Given the description of an element on the screen output the (x, y) to click on. 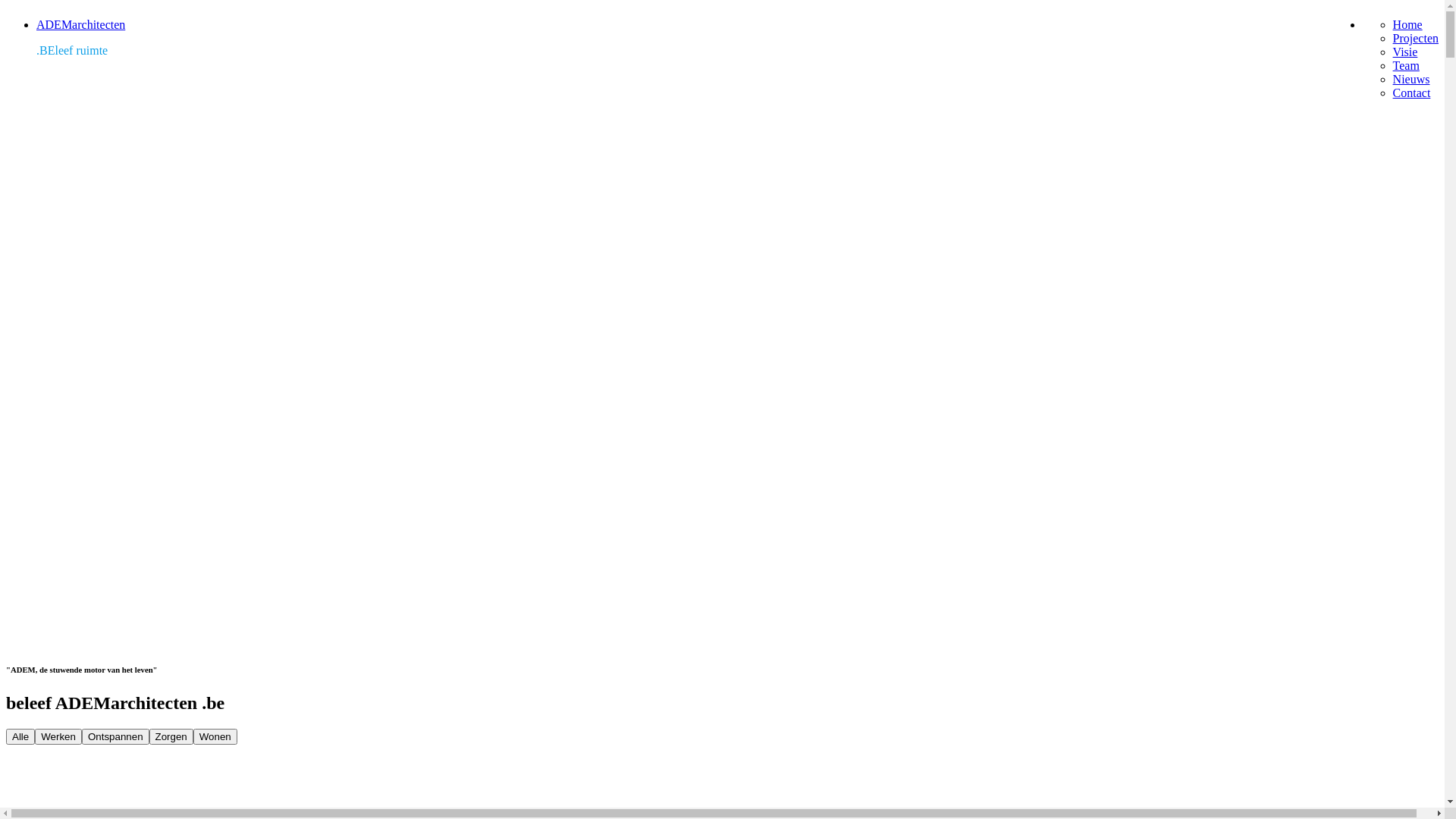
Projecten Element type: text (1415, 37)
ADEMarchitecten Element type: text (80, 24)
Ontspannen Element type: text (115, 736)
Nieuws Element type: text (1411, 78)
Zorgen Element type: text (171, 736)
Wonen Element type: text (215, 736)
Alle Element type: text (20, 736)
Werken Element type: text (57, 736)
Team Element type: text (1406, 65)
Visie Element type: text (1405, 51)
Contact Element type: text (1411, 92)
Home Element type: text (1407, 24)
